Given the description of an element on the screen output the (x, y) to click on. 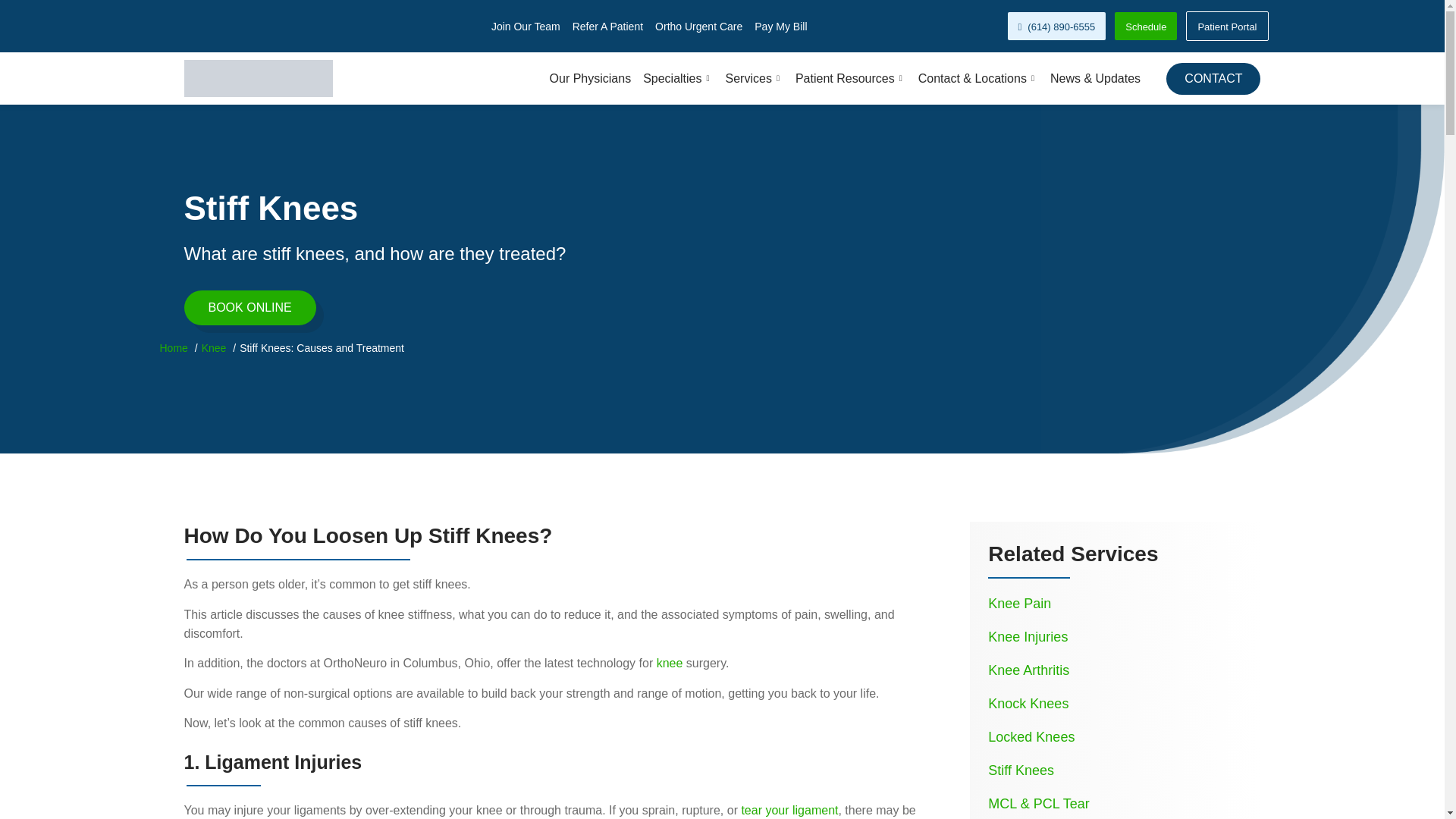
Patient Resources (844, 78)
Join Our Team (526, 26)
Our Physicians (584, 78)
Ortho Urgent Care (698, 26)
Schedule (1145, 26)
Pay My Bill (780, 26)
Specialties (671, 78)
Refer A Patient (607, 26)
Patient Portal (1227, 25)
Services (748, 78)
